Given the description of an element on the screen output the (x, y) to click on. 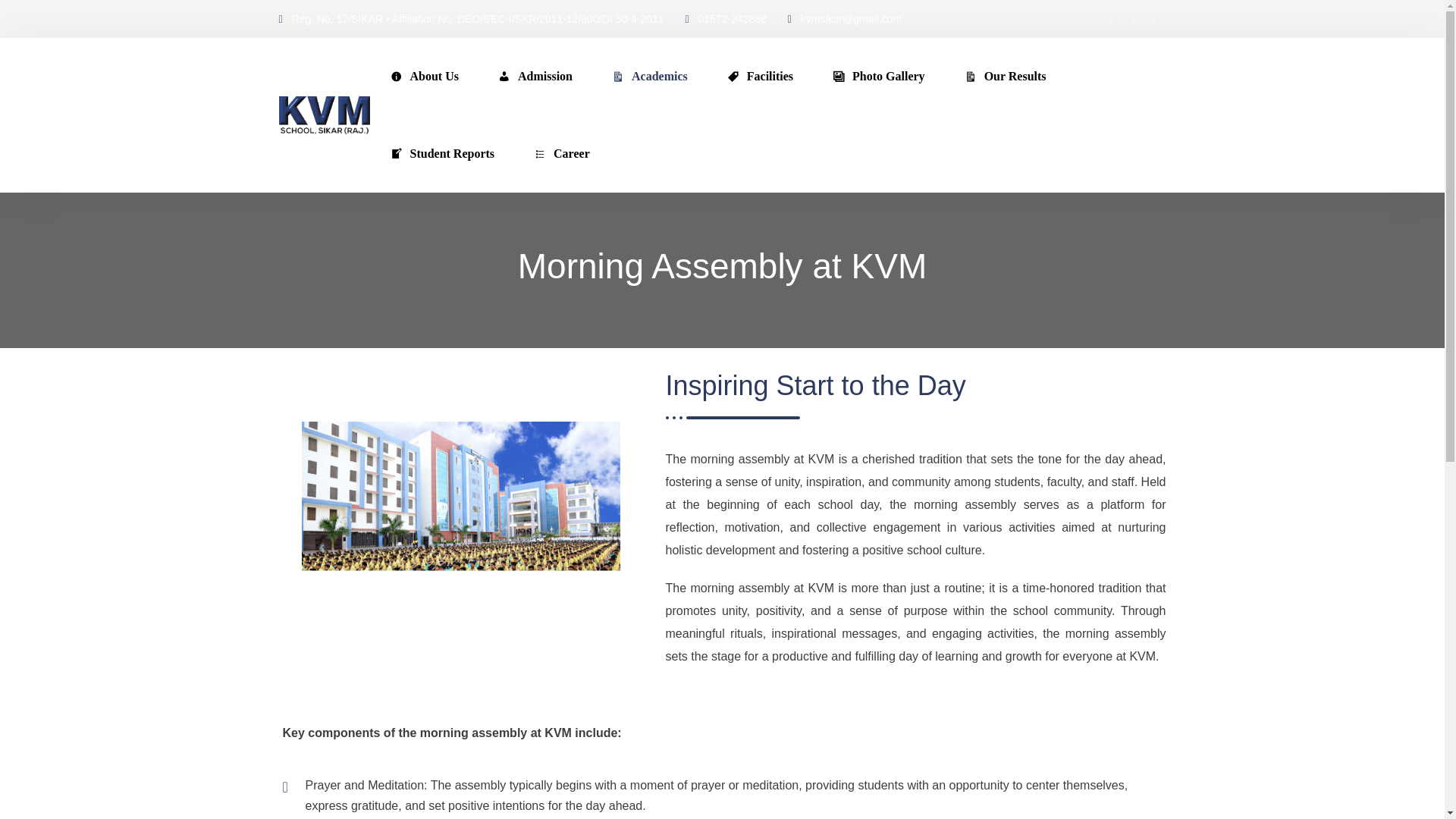
Academics (648, 76)
Our Results (1004, 76)
Facilities (759, 76)
About Us (423, 76)
Admission (534, 76)
Photo Gallery (877, 76)
